Given the description of an element on the screen output the (x, y) to click on. 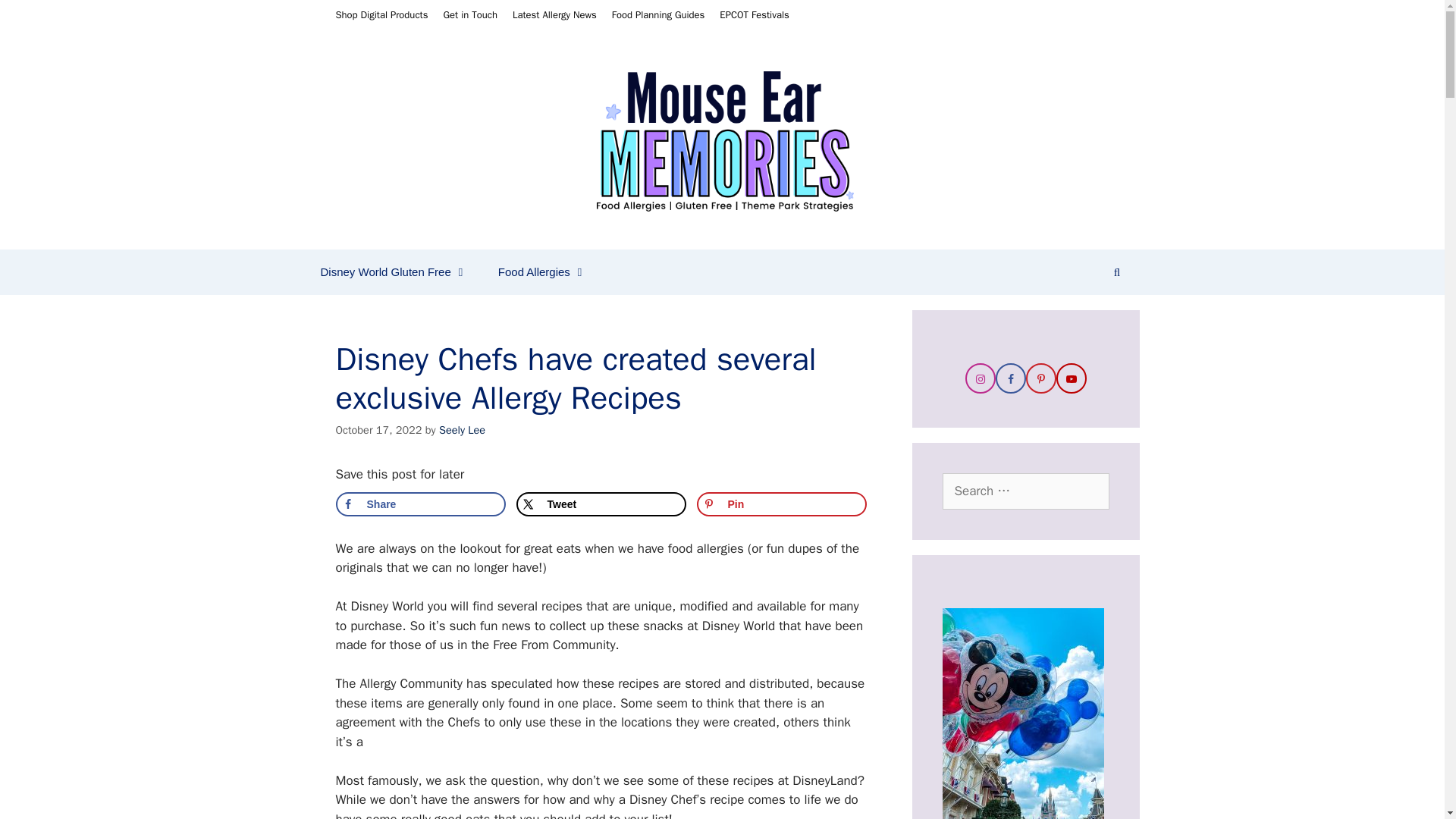
Get in Touch (470, 14)
Tweet (600, 504)
Save to Pinterest (780, 504)
Share on X (600, 504)
Follow on Instagram (978, 378)
Shop Digital Products (381, 14)
Latest Allergy News (554, 14)
Share on Facebook (419, 504)
Share (419, 504)
Follow on YouTube (1070, 378)
EPCOT Festivals (754, 14)
Disney World Gluten Free (392, 271)
Food Allergies (542, 271)
Search for: (1025, 491)
View all posts by Seely Lee (461, 429)
